Given the description of an element on the screen output the (x, y) to click on. 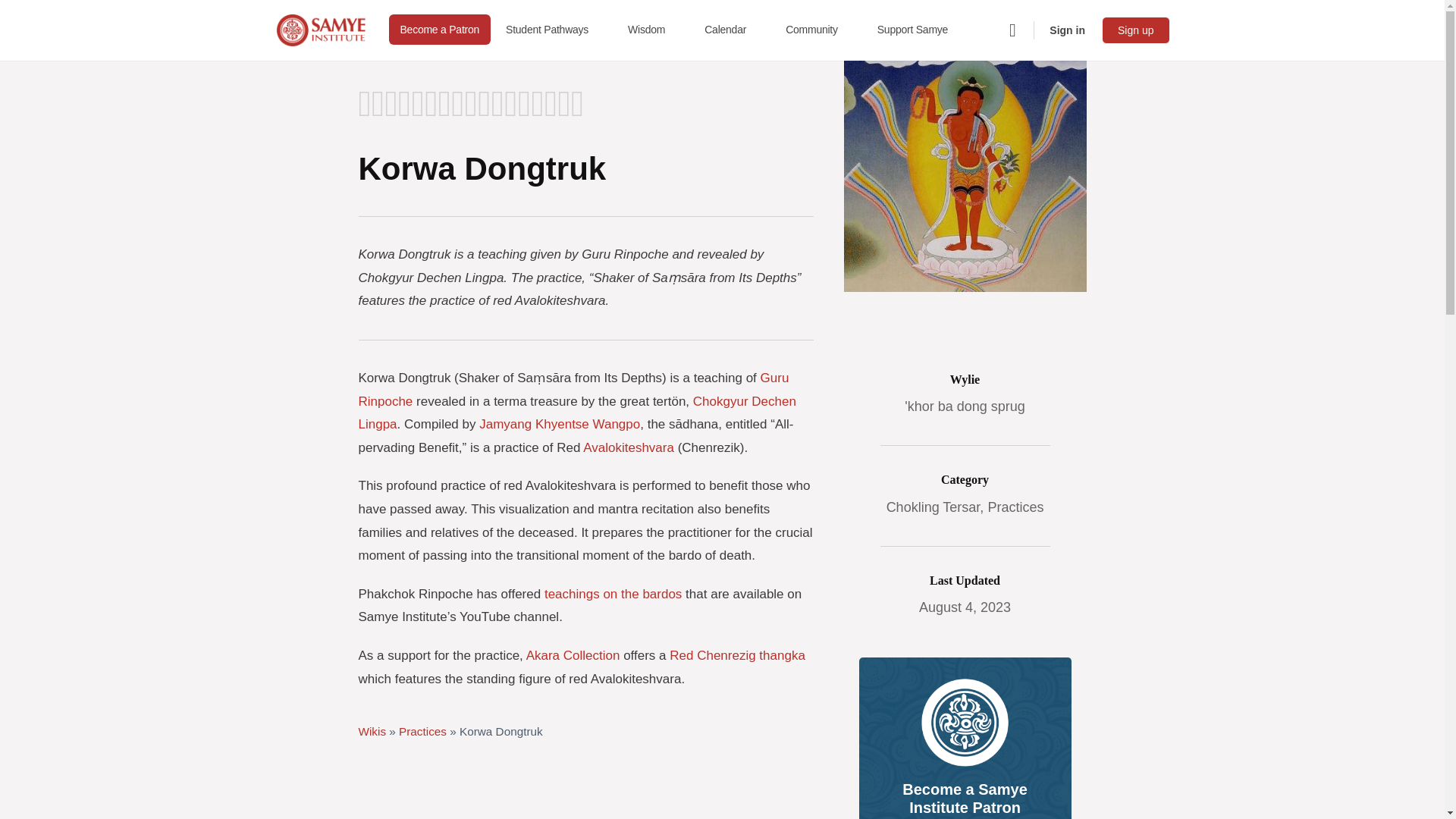
Support Samye (918, 30)
Prayers (428, 90)
Become a Patron (440, 30)
Student Pathways (552, 30)
Wisdom (652, 30)
Community (818, 30)
Calendar (732, 30)
